Given the description of an element on the screen output the (x, y) to click on. 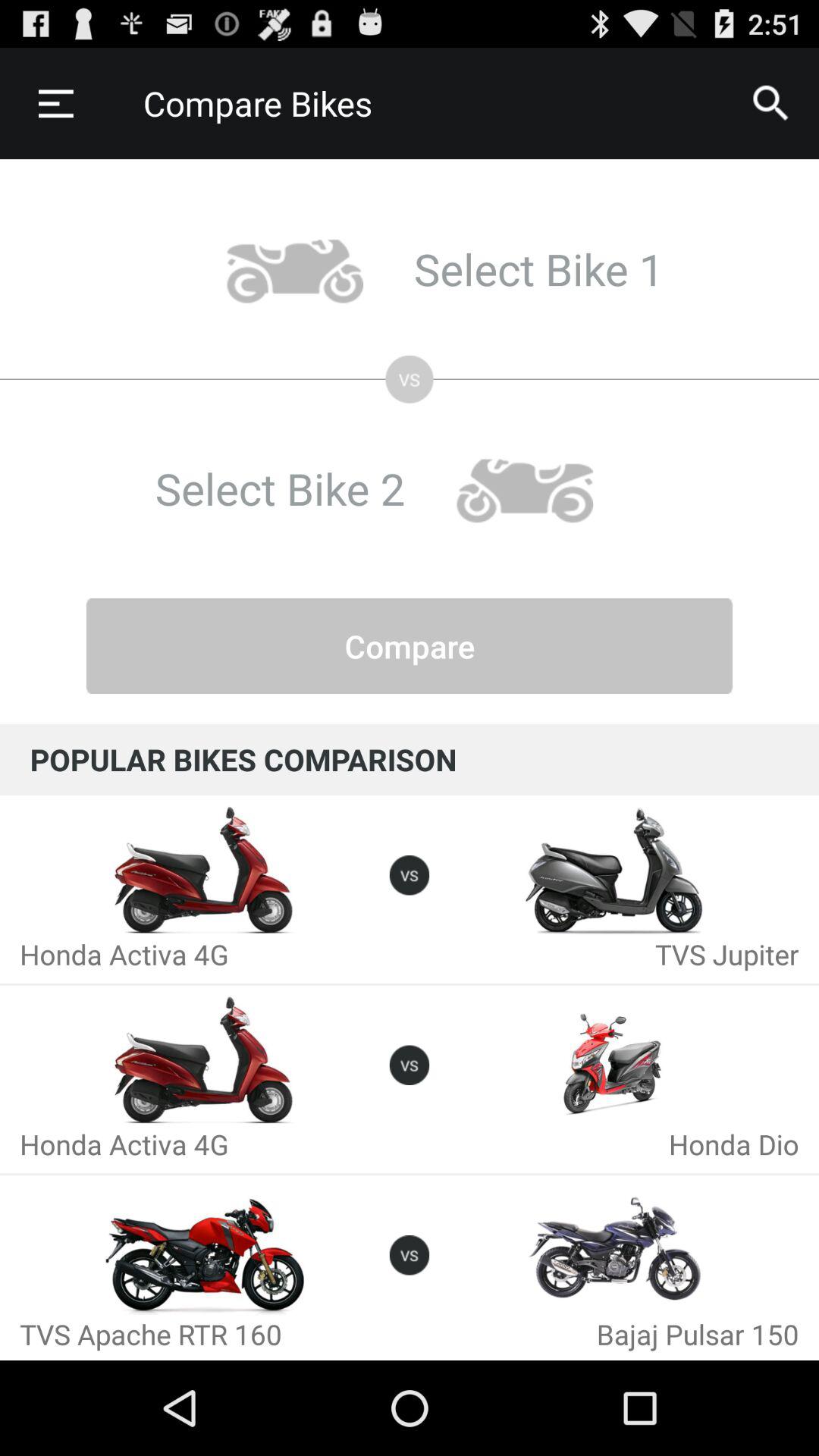
click the icon to the left of the compare bikes (55, 103)
